Given the description of an element on the screen output the (x, y) to click on. 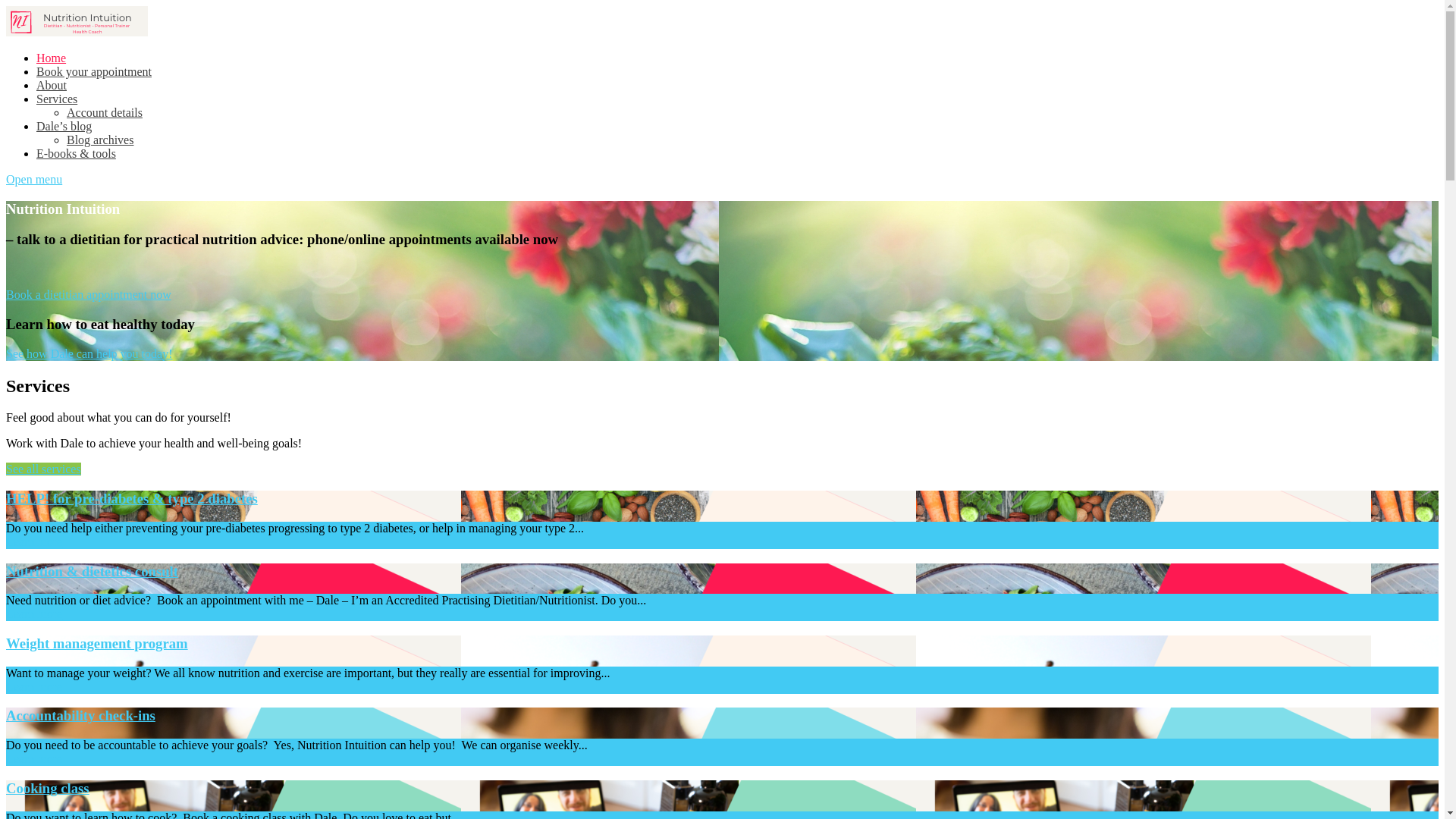
Book a dietitian appointment now Element type: text (88, 294)
Account details Element type: text (104, 112)
See all services Element type: text (43, 468)
Accountability check-ins Element type: text (722, 715)
Go to Home Element type: hover (76, 31)
E-books & tools Element type: text (76, 153)
Book your appointment Element type: text (93, 71)
Learn more Element type: text (34, 613)
Cooking class Element type: text (722, 788)
Blog archives Element type: text (99, 139)
Open menu Element type: text (34, 178)
Services Element type: text (56, 98)
About Element type: text (51, 84)
Learn more Element type: text (34, 758)
HELP! for pre-diabetes & type 2 diabetes Element type: text (722, 498)
Learn more Element type: text (34, 686)
Learn more Element type: text (34, 541)
Weight management program Element type: text (722, 643)
Nutrition & dietetics consult Element type: text (722, 571)
Home Element type: text (50, 57)
See how Dale can help you today! Element type: text (89, 353)
